Given the description of an element on the screen output the (x, y) to click on. 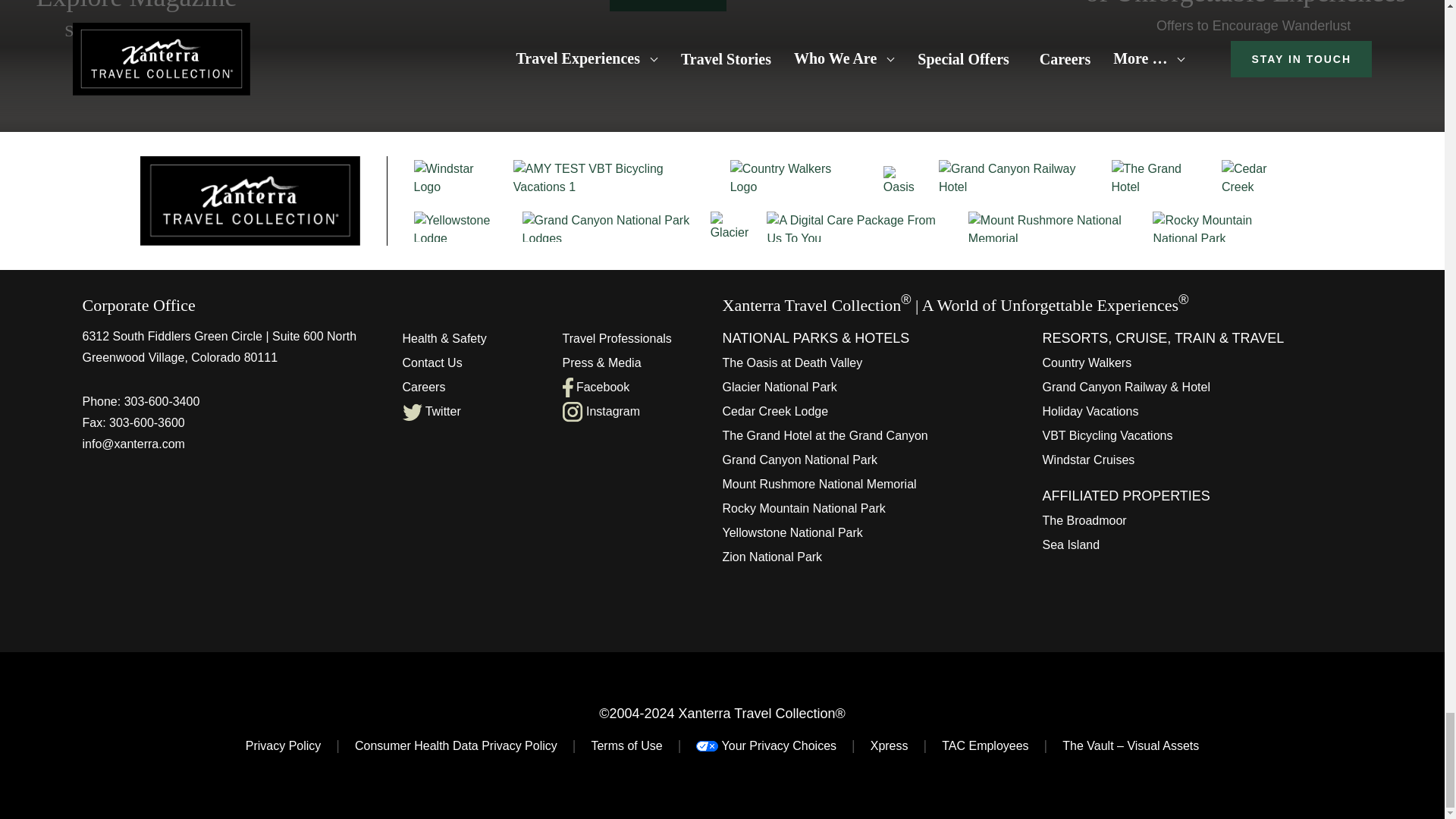
Current Offers (1253, 18)
AMY TEST VBT Bicycling Vacations 1 (613, 177)
Learn More About Explore Magazine (136, 21)
Subscribe (668, 5)
Windstar Logo (455, 177)
Country Walkers Logo (791, 177)
Grand Canyon Railway Hotel (1017, 177)
Oasis (903, 180)
